Given the description of an element on the screen output the (x, y) to click on. 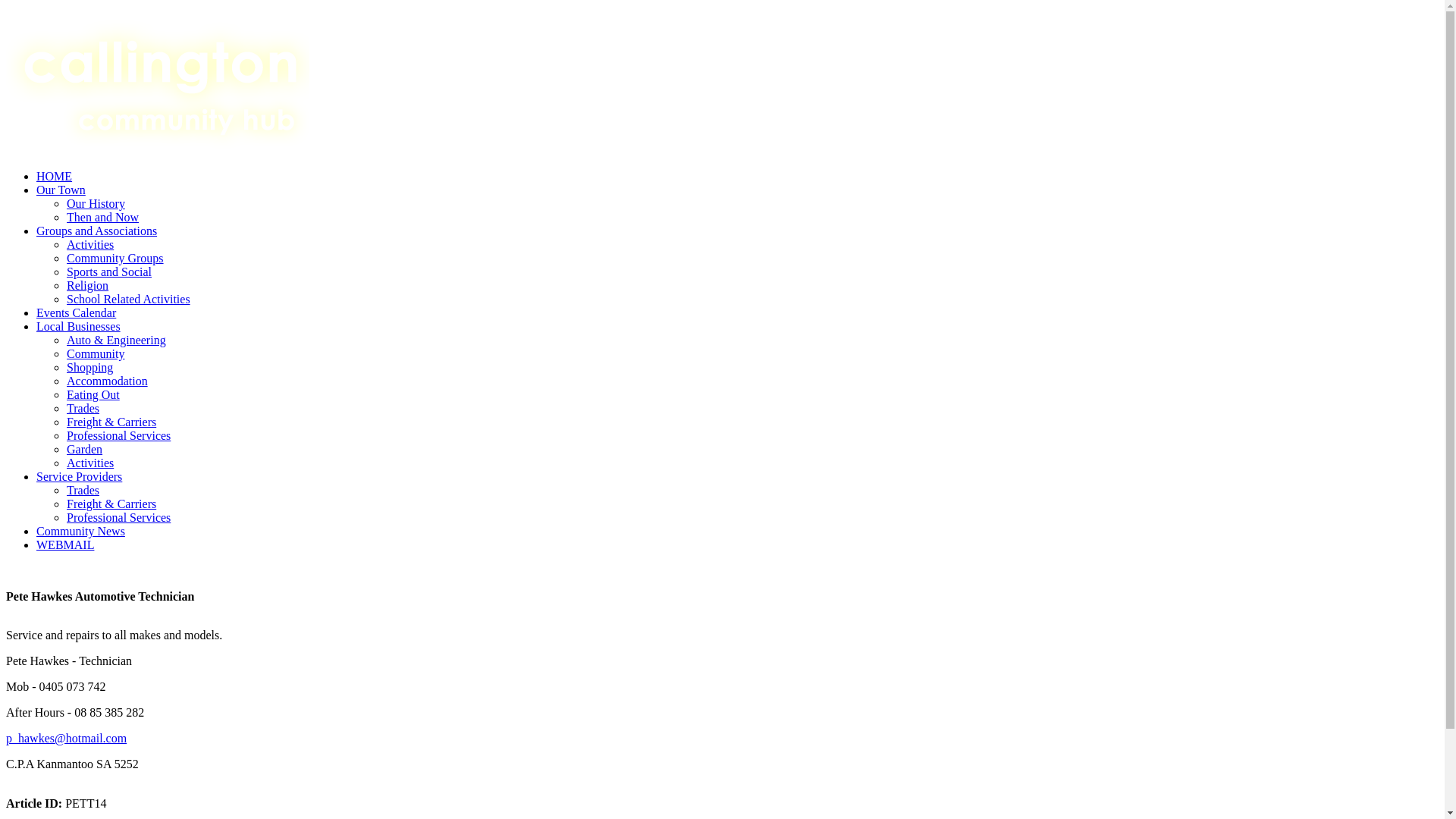
Shopping Element type: text (89, 366)
p_hawkes@hotmail.com Element type: text (66, 737)
Pete Hawkes Automotive Technician Element type: hover (721, 615)
Activities Element type: text (89, 244)
Our Town Element type: text (60, 189)
Trades Element type: text (82, 407)
Auto & Engineering Element type: text (116, 339)
Local Businesses Element type: text (78, 326)
Accommodation Element type: text (106, 380)
Groups and Associations Element type: text (96, 230)
Community Element type: text (95, 353)
Trades Element type: text (82, 489)
Religion Element type: text (87, 285)
Freight & Carriers Element type: text (111, 421)
Community Groups Element type: text (114, 257)
Our History Element type: text (95, 203)
Sports and Social Element type: text (108, 271)
Service Providers Element type: text (79, 476)
Then and Now Element type: text (102, 216)
Freight & Carriers Element type: text (111, 503)
Garden Element type: text (84, 448)
HOME Element type: text (54, 175)
Professional Services Element type: text (118, 435)
School Related Activities Element type: text (128, 298)
Activities Element type: text (89, 462)
Events Calendar Element type: text (76, 312)
Community News Element type: text (80, 530)
Ardlethan Community Hub Element type: hover (157, 81)
Professional Services Element type: text (118, 517)
WEBMAIL Element type: text (65, 544)
Eating Out Element type: text (92, 394)
